Given the description of an element on the screen output the (x, y) to click on. 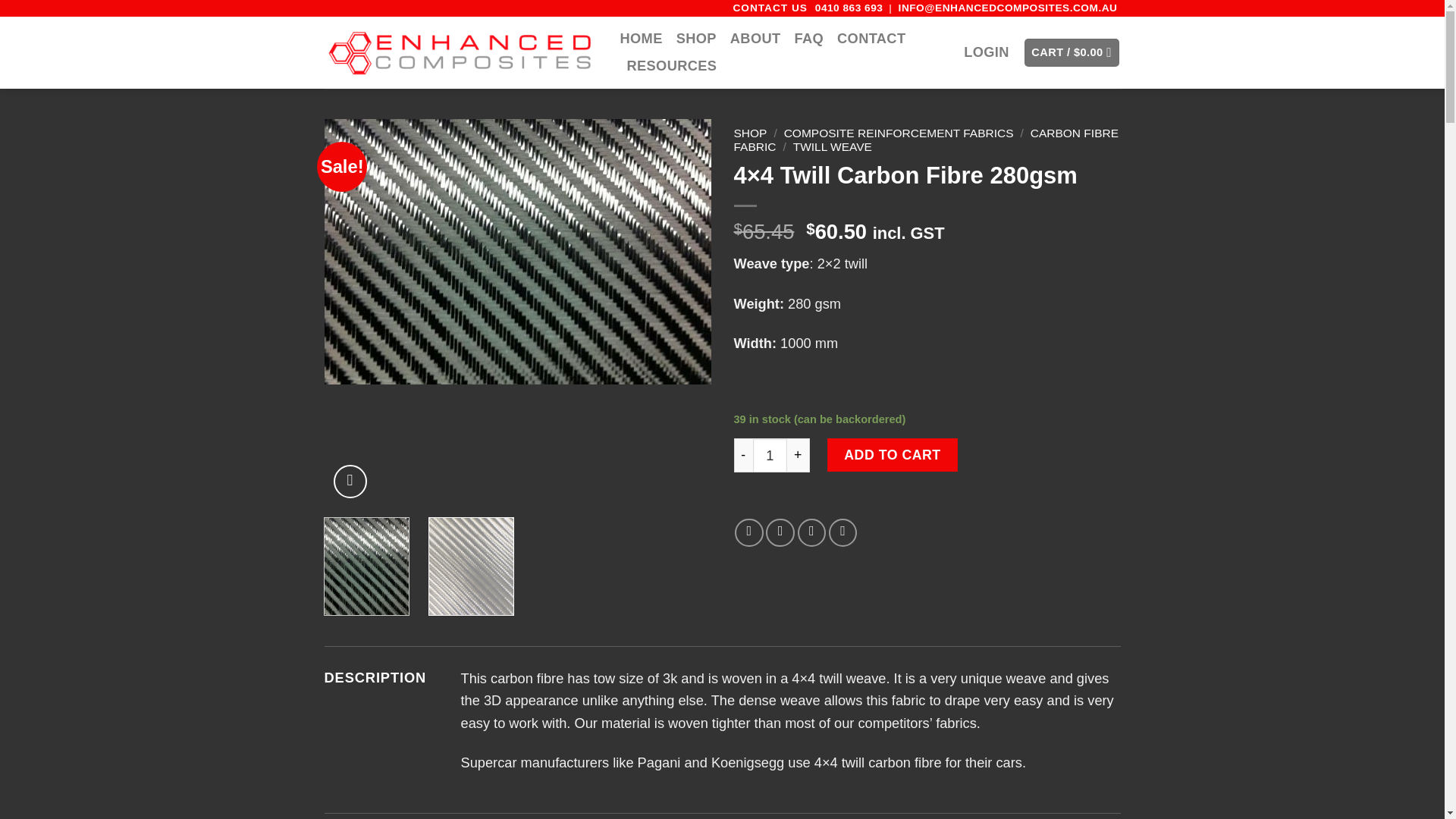
HOME (641, 38)
Share on Twitter (779, 532)
0410 863 693 (849, 7)
RESOURCES (671, 65)
Email to a Friend (812, 532)
LOGIN (986, 52)
SHOP (696, 38)
COMPOSITE REINFORCEMENT FABRICS (898, 132)
1 (769, 455)
Qty (769, 455)
CARBON FIBRE FABRIC (926, 139)
FAQ (808, 38)
ADD TO CART (892, 454)
Enhanced Composites (460, 52)
TWILL WEAVE (832, 146)
